Given the description of an element on the screen output the (x, y) to click on. 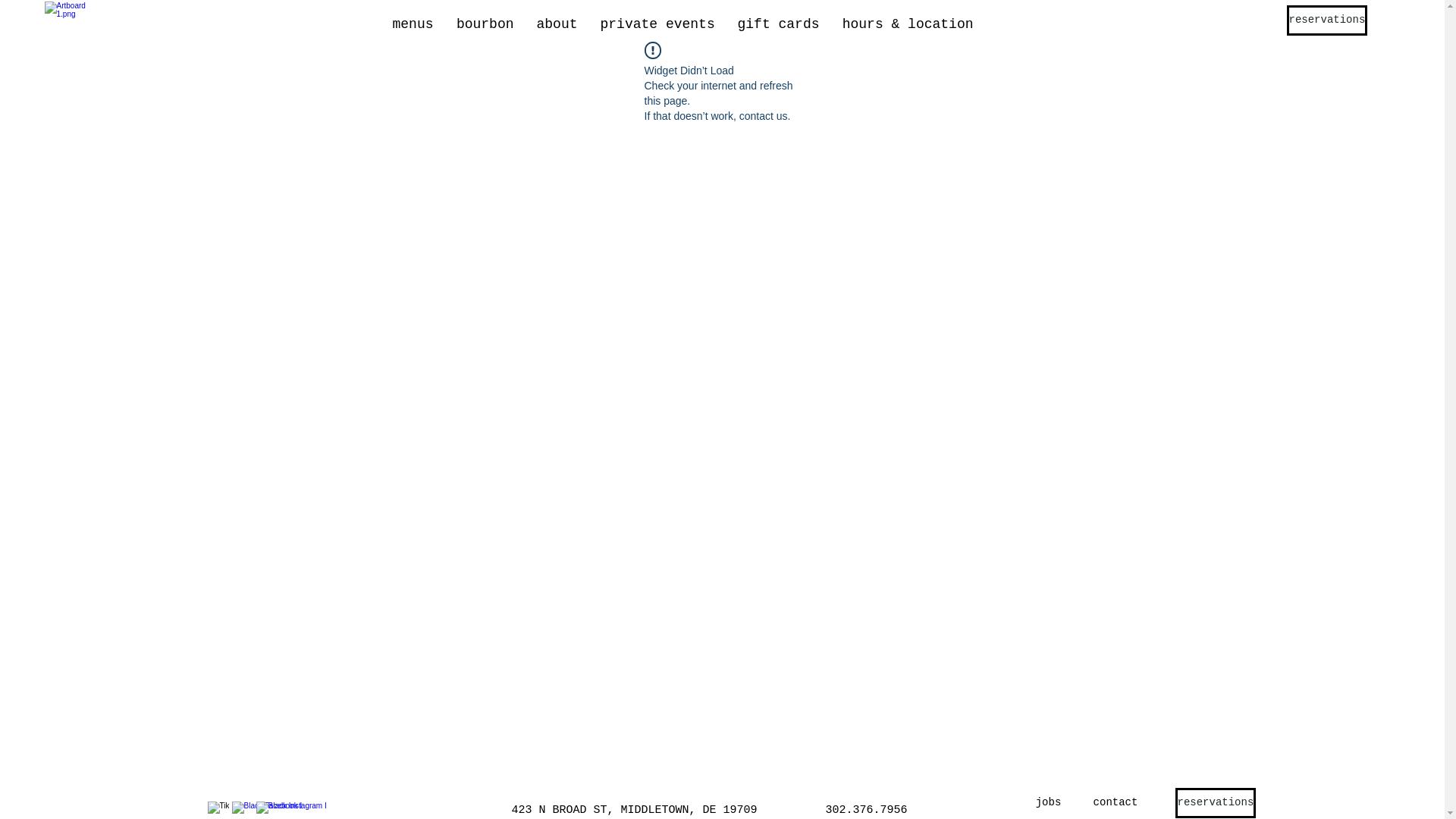
reservations Element type: text (1326, 20)
contact Element type: text (1114, 802)
menus Element type: text (412, 24)
private events Element type: text (656, 24)
jobs Element type: text (1048, 802)
bourbon Element type: text (484, 24)
gift cards Element type: text (778, 24)
about Element type: text (556, 24)
hours & location Element type: text (908, 24)
reservations Element type: text (1215, 802)
